Given the description of an element on the screen output the (x, y) to click on. 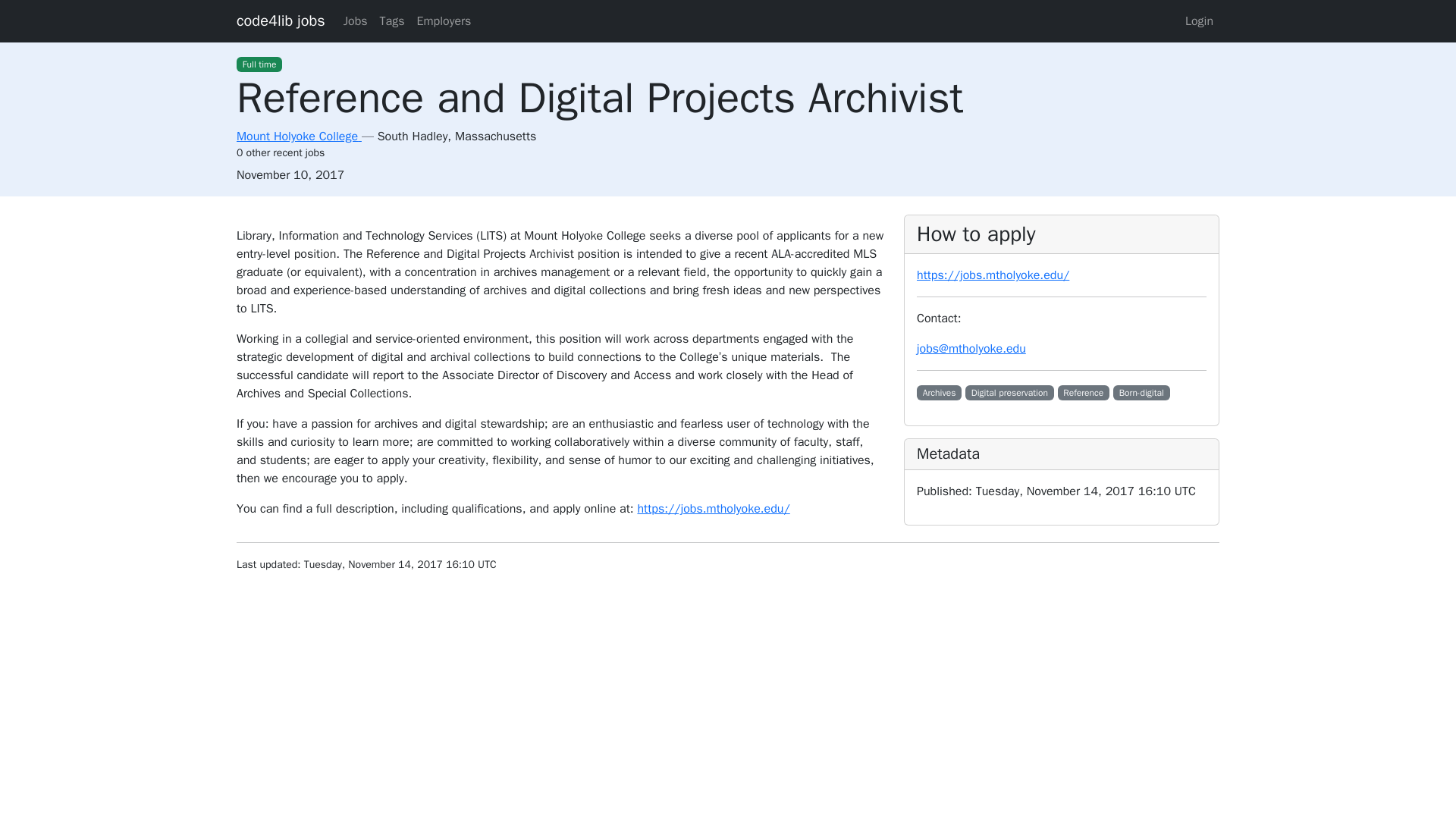
Mount Holyoke College (298, 136)
Born-digital (1141, 392)
Login (1199, 20)
code4lib jobs (279, 20)
Digital preservation (1009, 392)
Archives (938, 392)
Jobs (355, 20)
Employers (443, 20)
Reference (1083, 392)
Tags (392, 20)
